Given the description of an element on the screen output the (x, y) to click on. 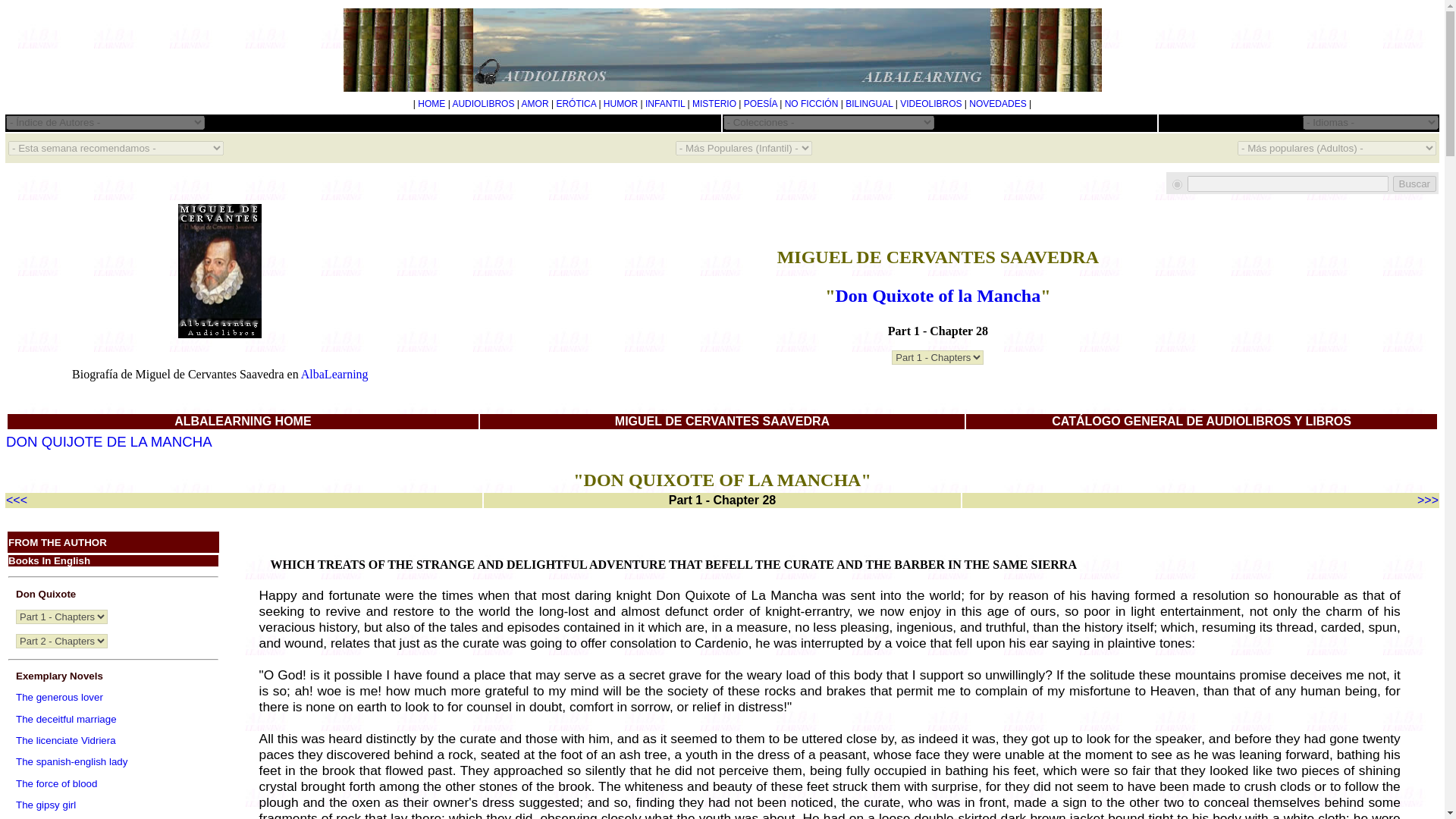
The licenciate Vidriera (66, 740)
NOVEDADES (997, 103)
AUDIOLIBROS (482, 103)
The generous lover (59, 696)
ALBALEARNING HOME (242, 420)
The force of blood (56, 783)
VIDEOLIBROS (929, 103)
BILINGUAL (868, 103)
Buscar (1414, 183)
Buscar (1414, 183)
HOME (431, 103)
AMOR (535, 103)
MISTERIO (714, 103)
MIGUEL DE CERVANTES SAAVEDRA (721, 420)
The gipsy girl (45, 804)
